Given the description of an element on the screen output the (x, y) to click on. 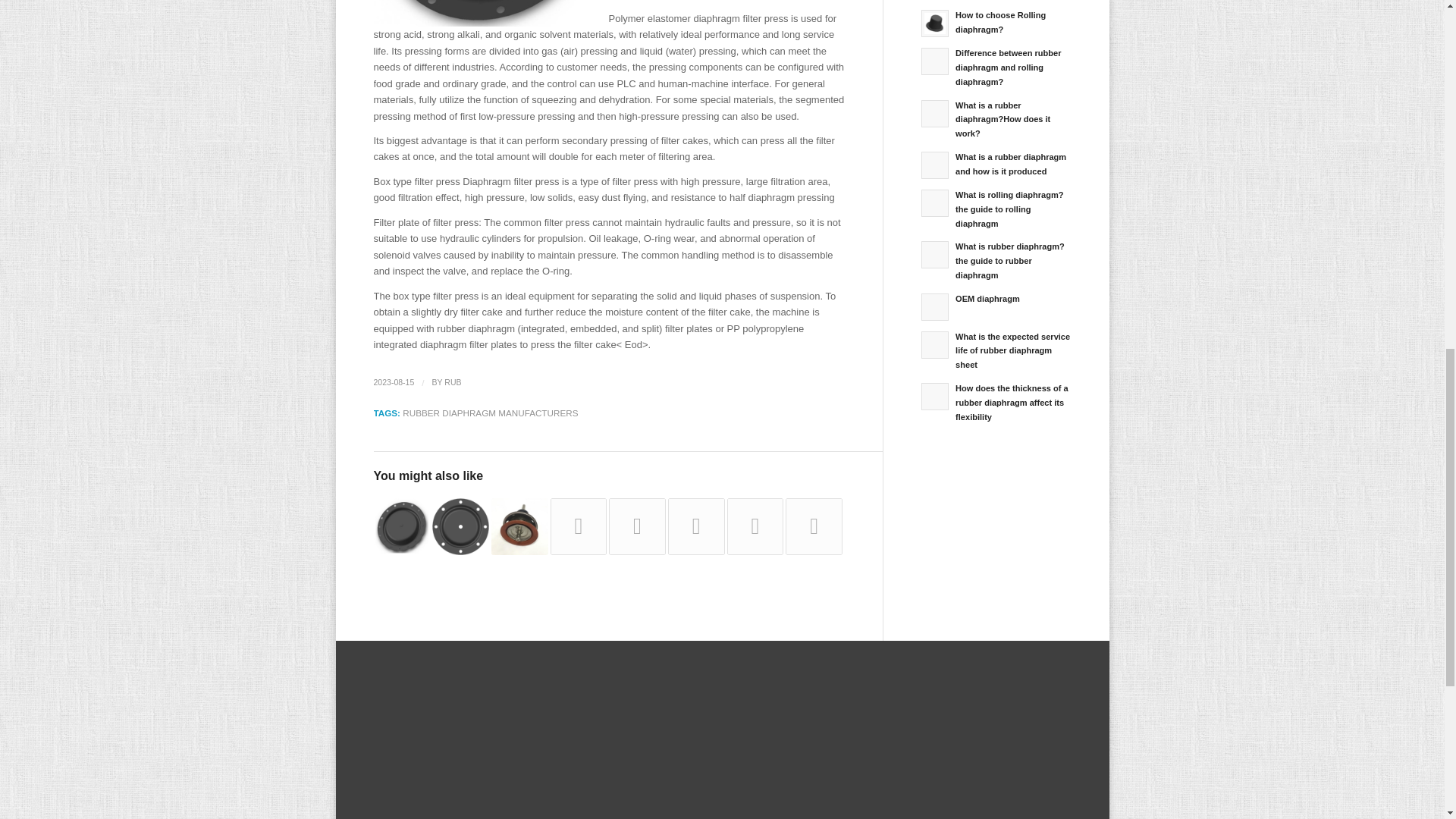
Rubber diaphragm for Pneumatic Regulator Actuator (400, 526)
Posts by rub (452, 381)
